Given the description of an element on the screen output the (x, y) to click on. 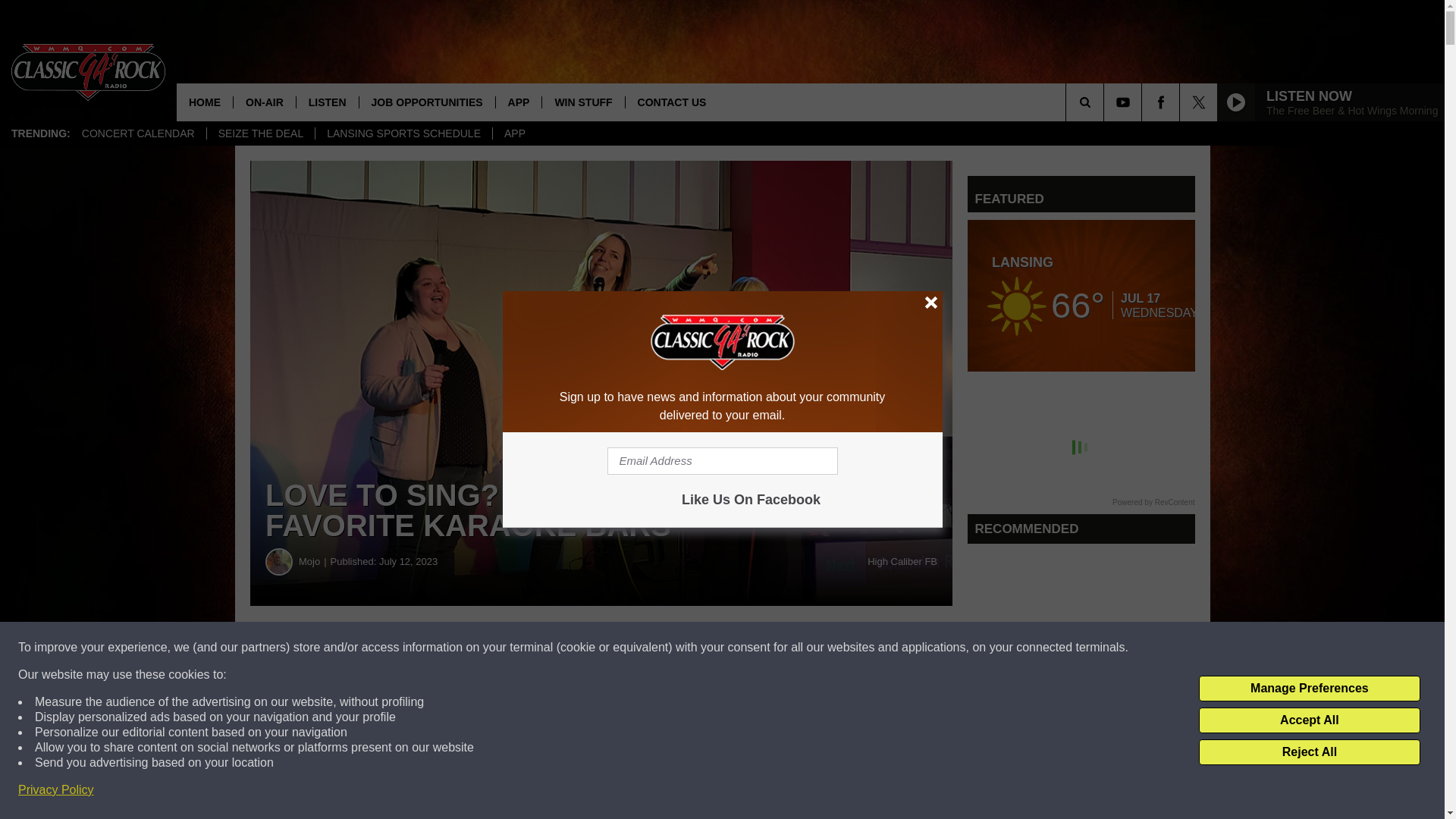
Share on Facebook (460, 647)
WIN STUFF (582, 102)
SEIZE THE DEAL (260, 133)
Accept All (1309, 720)
APP (518, 102)
Privacy Policy (55, 789)
CONCERT CALENDAR (137, 133)
ON-AIR (263, 102)
Email Address (722, 461)
CONTACT US (671, 102)
LISTEN (326, 102)
Share on Twitter (741, 647)
SEARCH (1106, 102)
Manage Preferences (1309, 688)
APP (514, 133)
